Given the description of an element on the screen output the (x, y) to click on. 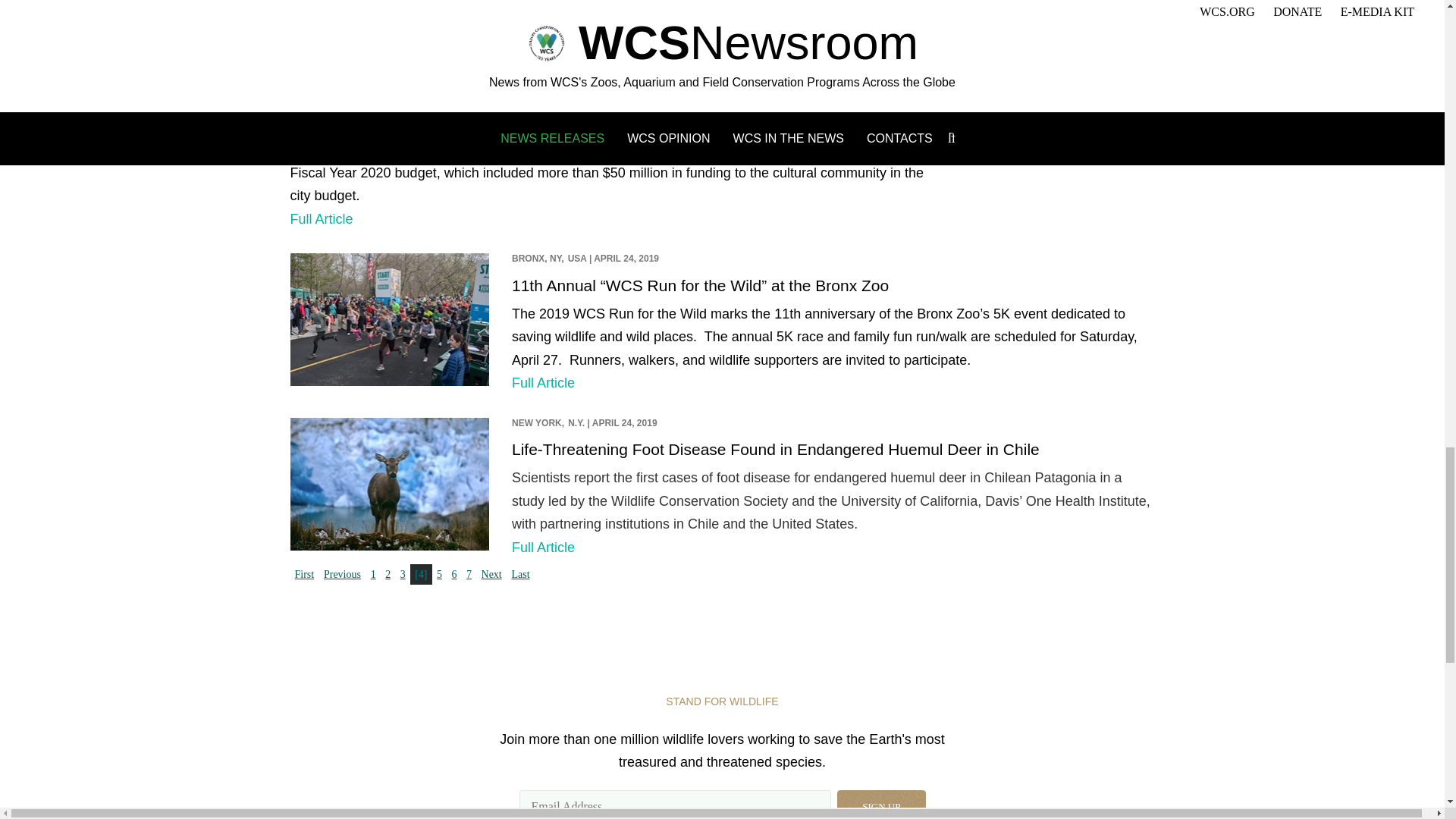
Full Article (543, 382)
First (303, 574)
Full Article (543, 7)
Full Article (543, 547)
Full Article (320, 218)
